Given the description of an element on the screen output the (x, y) to click on. 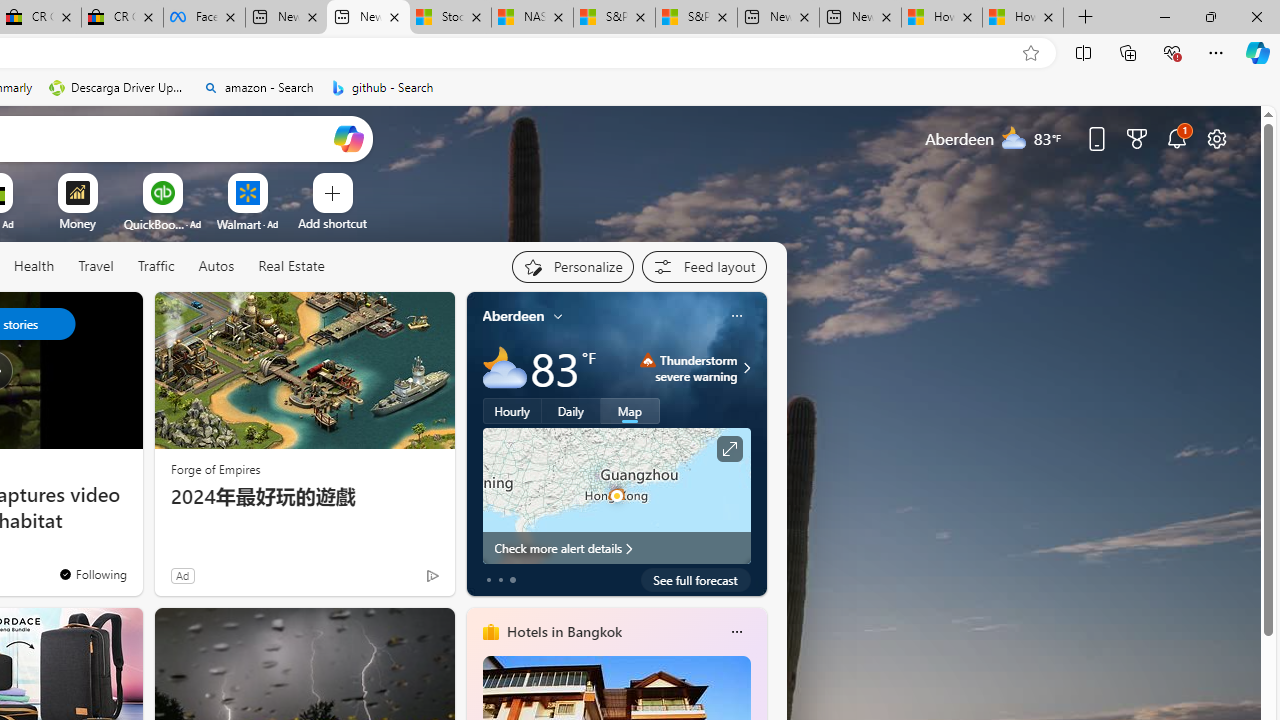
Open Copilot (347, 138)
tab-0 (488, 579)
Close tab (1048, 16)
S&P 500, Nasdaq end lower, weighed by Nvidia dip | Watch (696, 17)
Mostly cloudy (504, 368)
Minimize (1164, 16)
Settings and more (Alt+F) (1215, 52)
Hourly (511, 411)
Ad Choice (432, 575)
Daily (571, 411)
github - Search (381, 88)
